Given the description of an element on the screen output the (x, y) to click on. 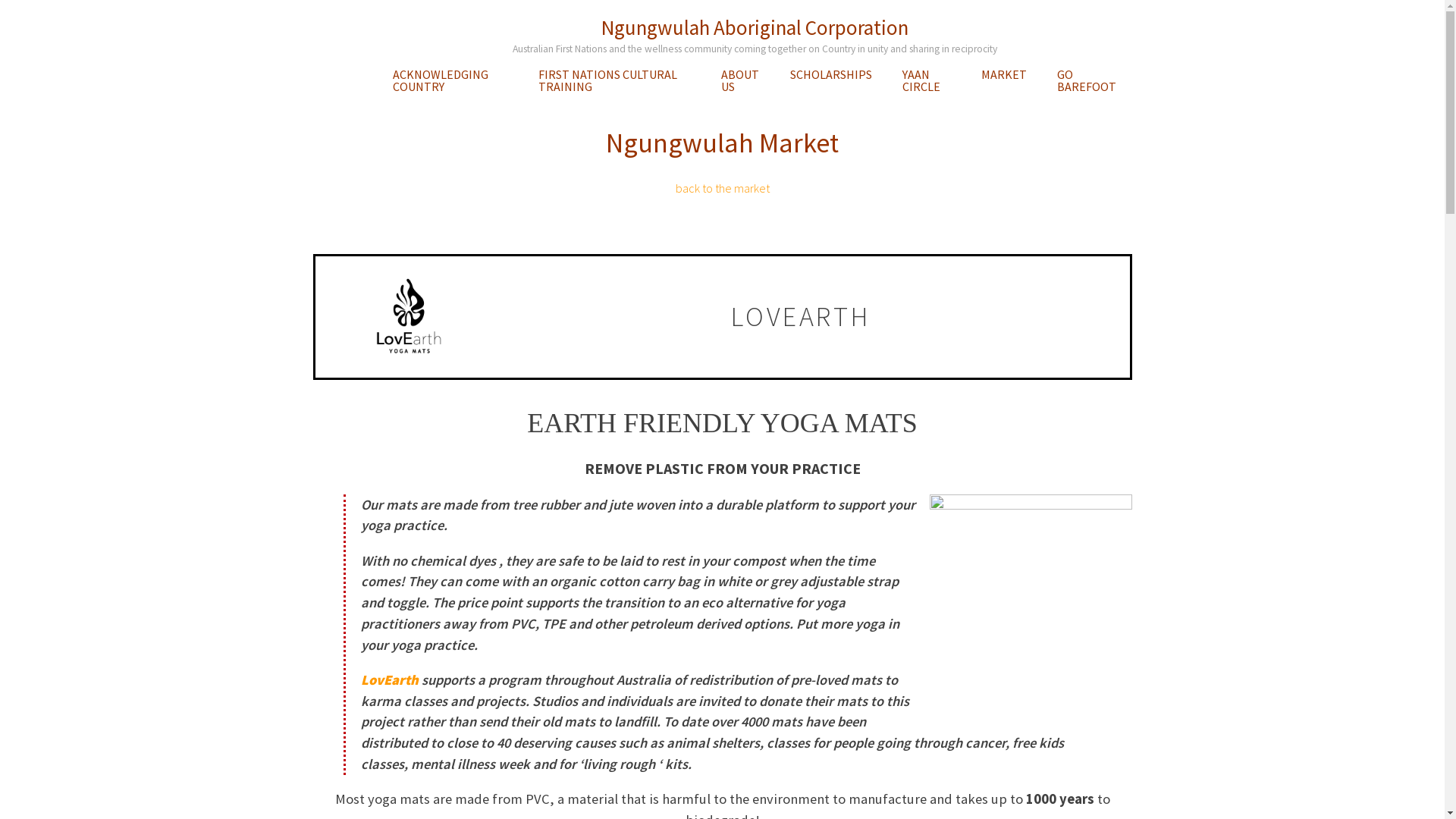
GO BAREFOOT Element type: text (1086, 79)
FIRST NATIONS CULTURAL TRAINING Element type: text (614, 79)
ACKNOWLEDGING COUNTRY Element type: text (450, 79)
ABOUT US Element type: text (740, 79)
MARKET Element type: text (1003, 73)
back to the market Element type: text (721, 187)
LovEarth Element type: text (389, 679)
YAAN CIRCLE Element type: text (926, 79)
SCHOLARSHIPS Element type: text (831, 73)
